Given the description of an element on the screen output the (x, y) to click on. 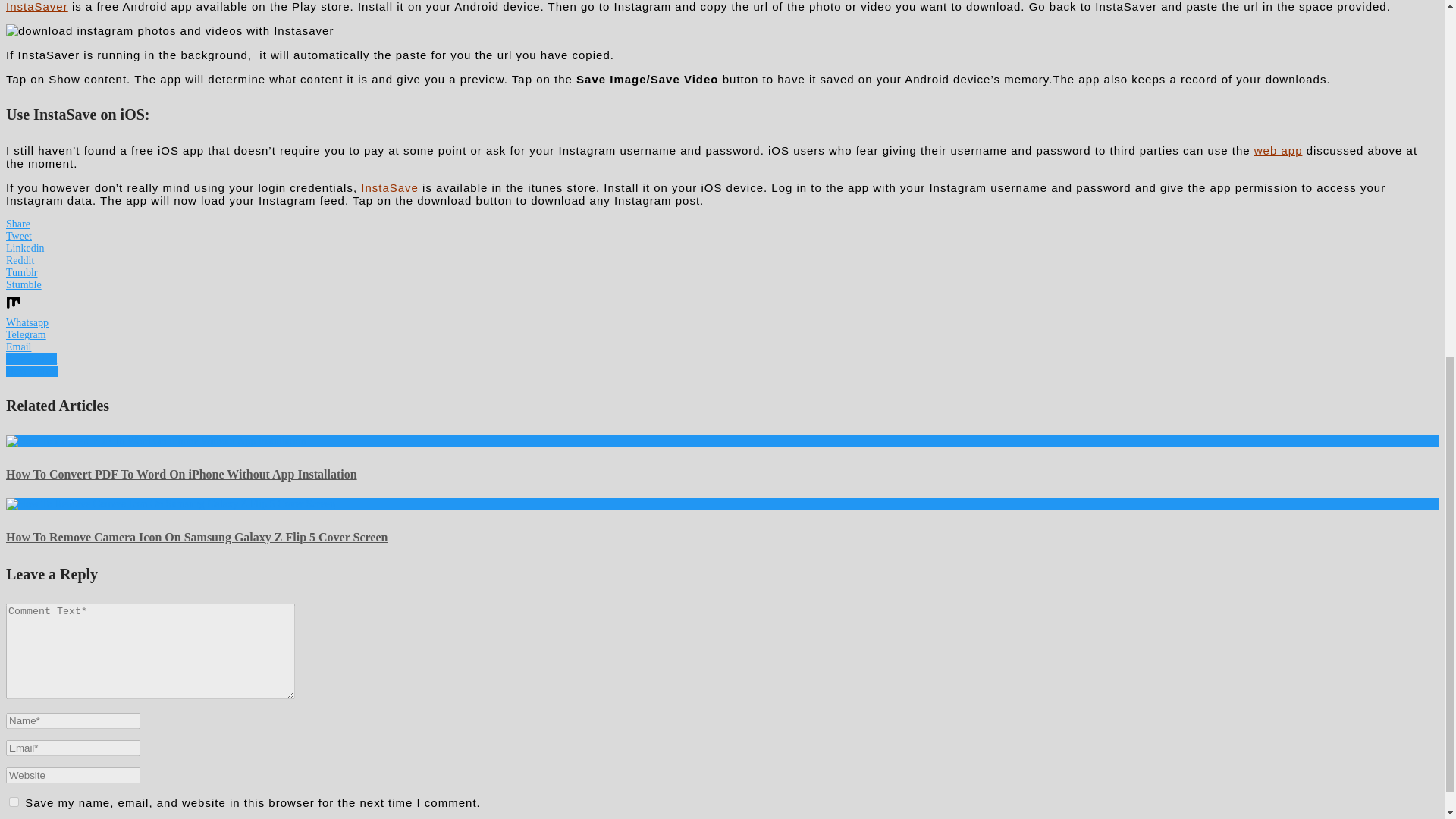
web app (1278, 150)
Next Article (31, 370)
yes (13, 801)
InstaSave (390, 187)
Prev Article (30, 358)
InstaSaver (36, 6)
